Given the description of an element on the screen output the (x, y) to click on. 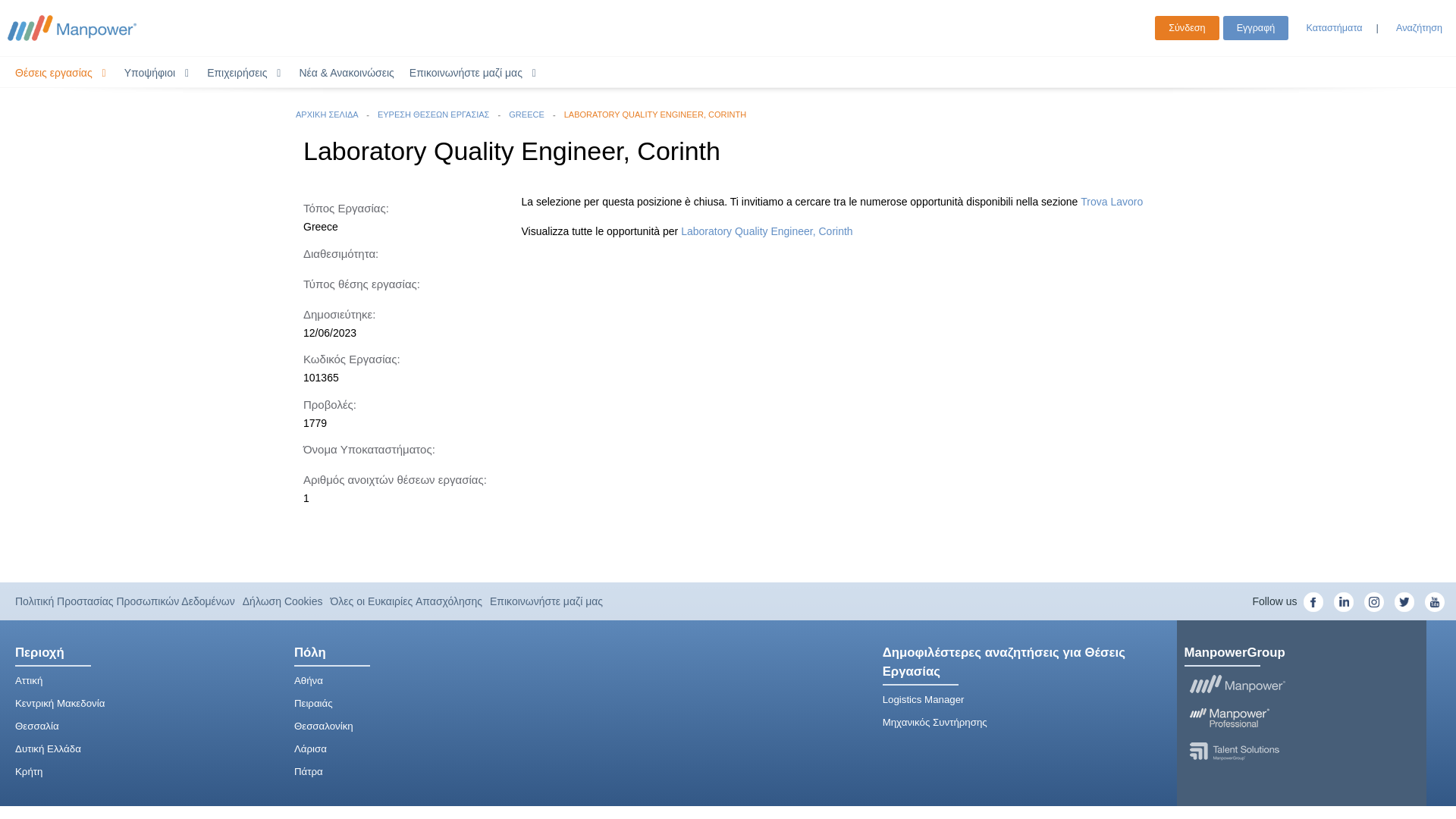
Trova Lavoro (1111, 201)
Trova Lavoro (1111, 201)
GREECE (527, 113)
Laboratory Quality Engineer, Corinth (766, 231)
